Given the description of an element on the screen output the (x, y) to click on. 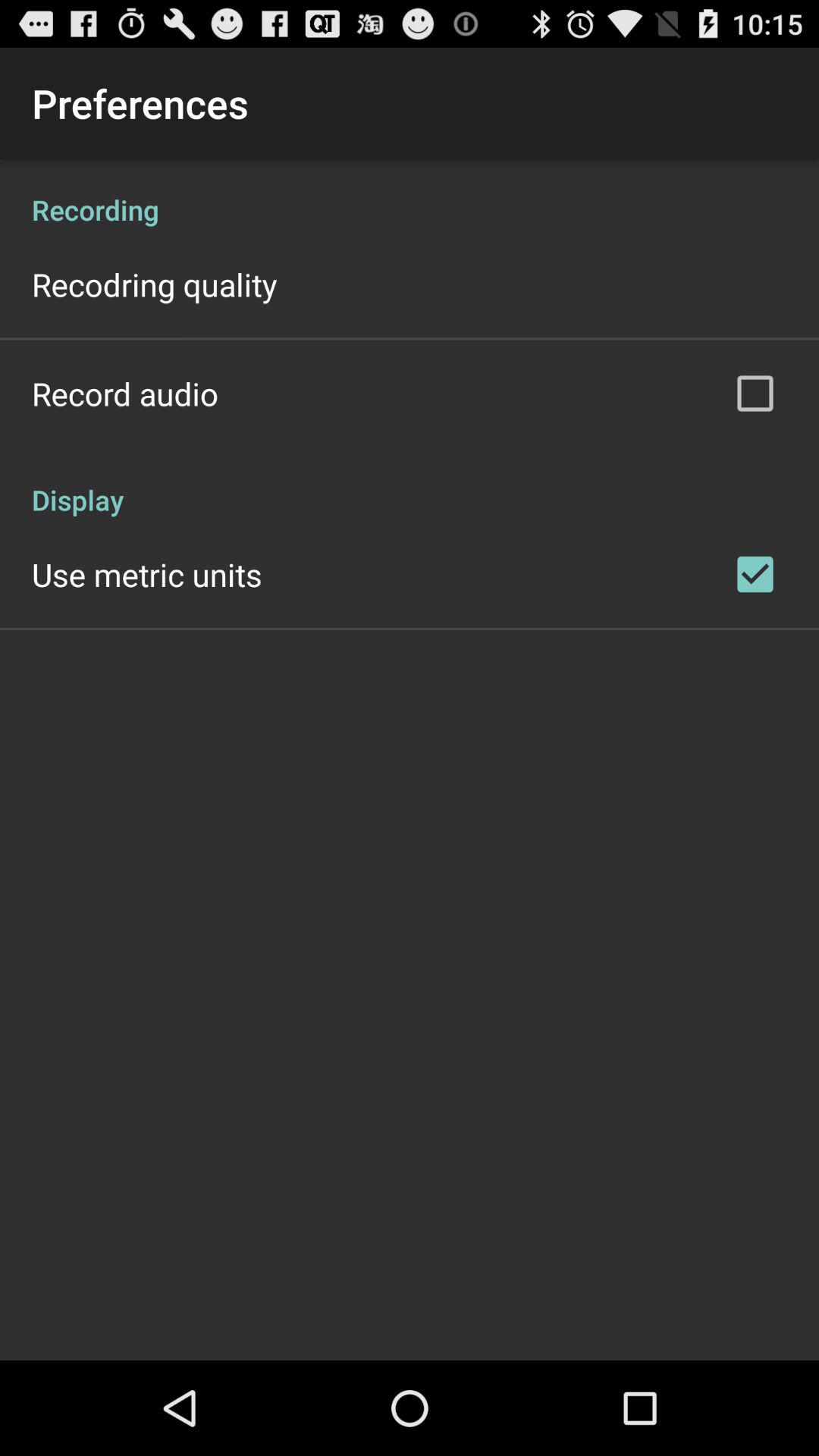
tap the icon above recodring quality icon (409, 193)
